Given the description of an element on the screen output the (x, y) to click on. 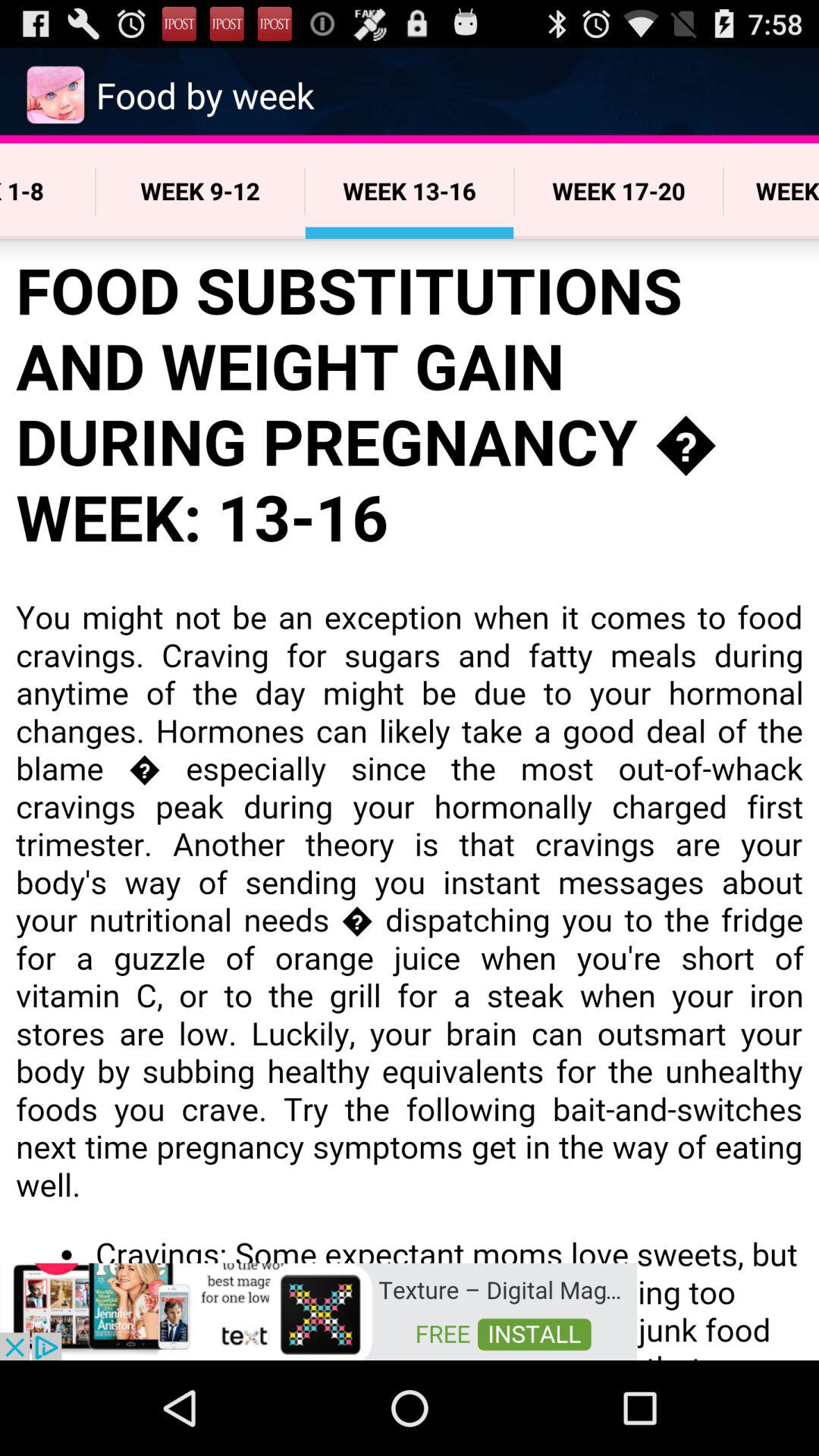
content area (409, 799)
